Given the description of an element on the screen output the (x, y) to click on. 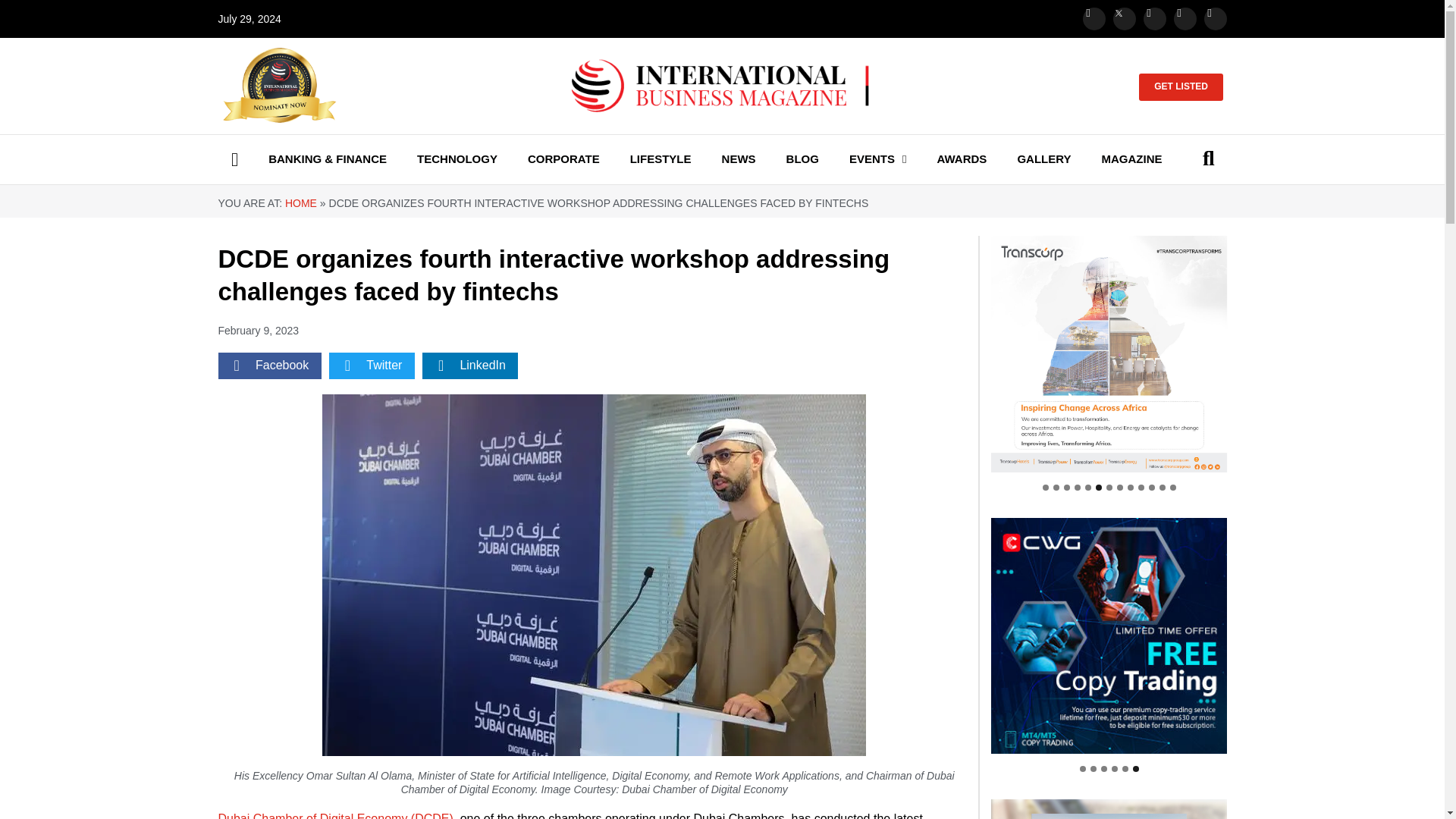
NEWS (737, 159)
GET LISTED (1180, 86)
TECHNOLOGY (457, 159)
AWARDS (961, 159)
MAGAZINE (1130, 159)
Transcorp Banner AD (1109, 353)
GALLERY (1044, 159)
BLOG (802, 159)
LIFESTYLE (659, 159)
EVENTS (877, 159)
CORPORATE (562, 159)
